Given the description of an element on the screen output the (x, y) to click on. 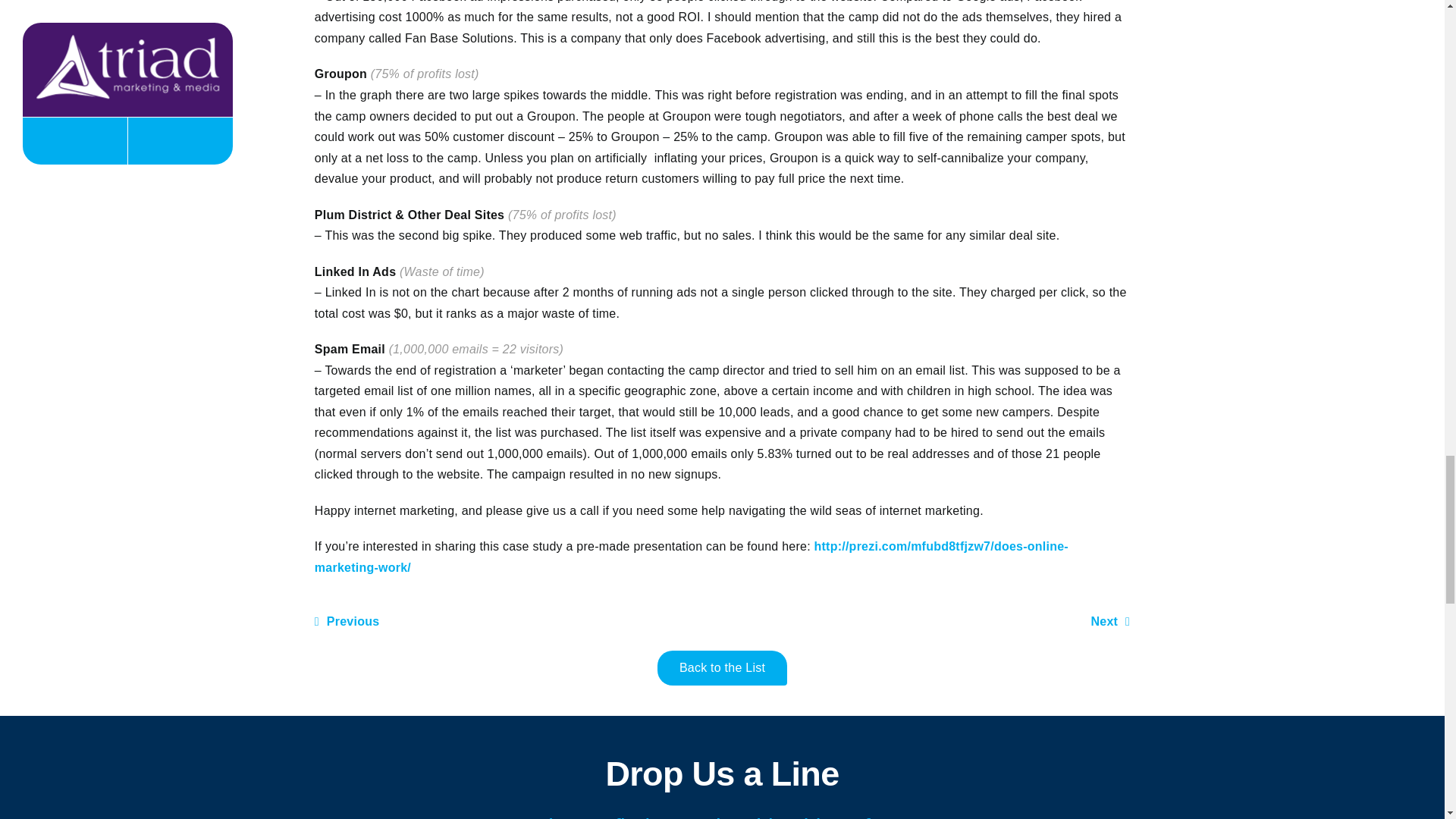
Previous (347, 621)
Next (1110, 621)
Back to the List (722, 667)
